Given the description of an element on the screen output the (x, y) to click on. 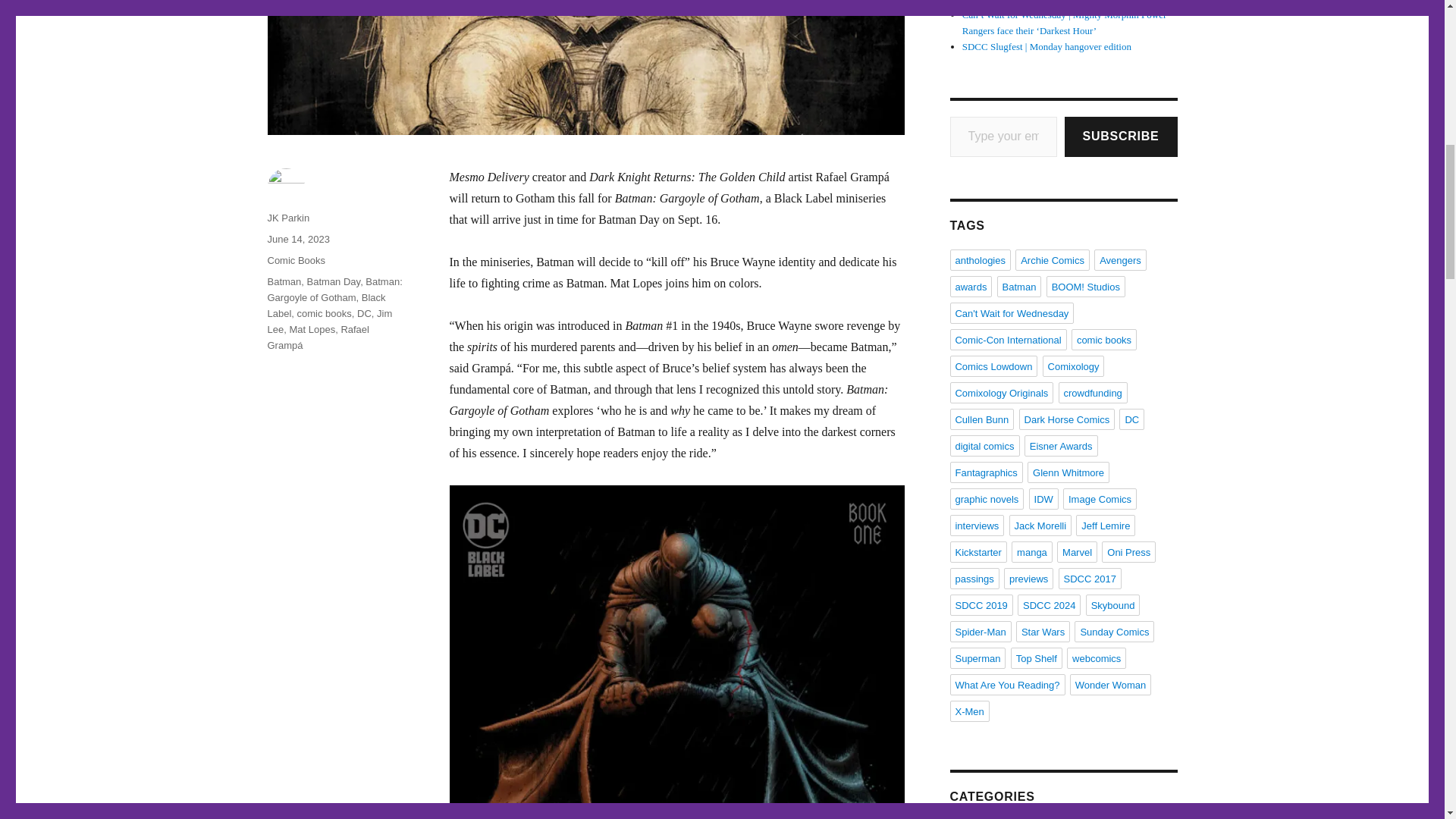
Batman (283, 281)
DC (363, 313)
Batman: Gargoyle of Gotham (333, 289)
Please fill in this field. (1003, 137)
Comic Books (295, 260)
Black Label (325, 305)
Jim Lee (328, 320)
Batman Day (334, 281)
comic books (324, 313)
JK Parkin (287, 217)
Mat Lopes (311, 328)
June 14, 2023 (297, 238)
